Given the description of an element on the screen output the (x, y) to click on. 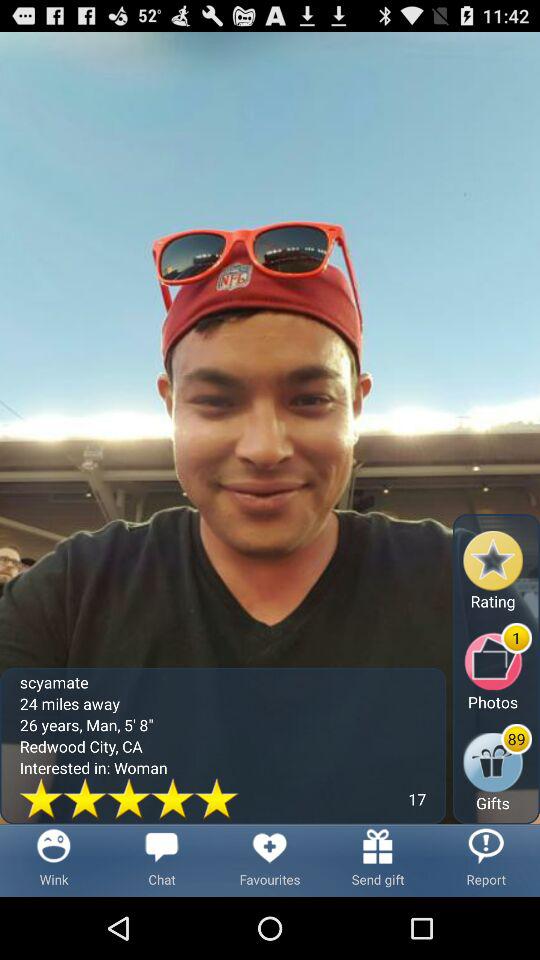
press report (486, 860)
